Given the description of an element on the screen output the (x, y) to click on. 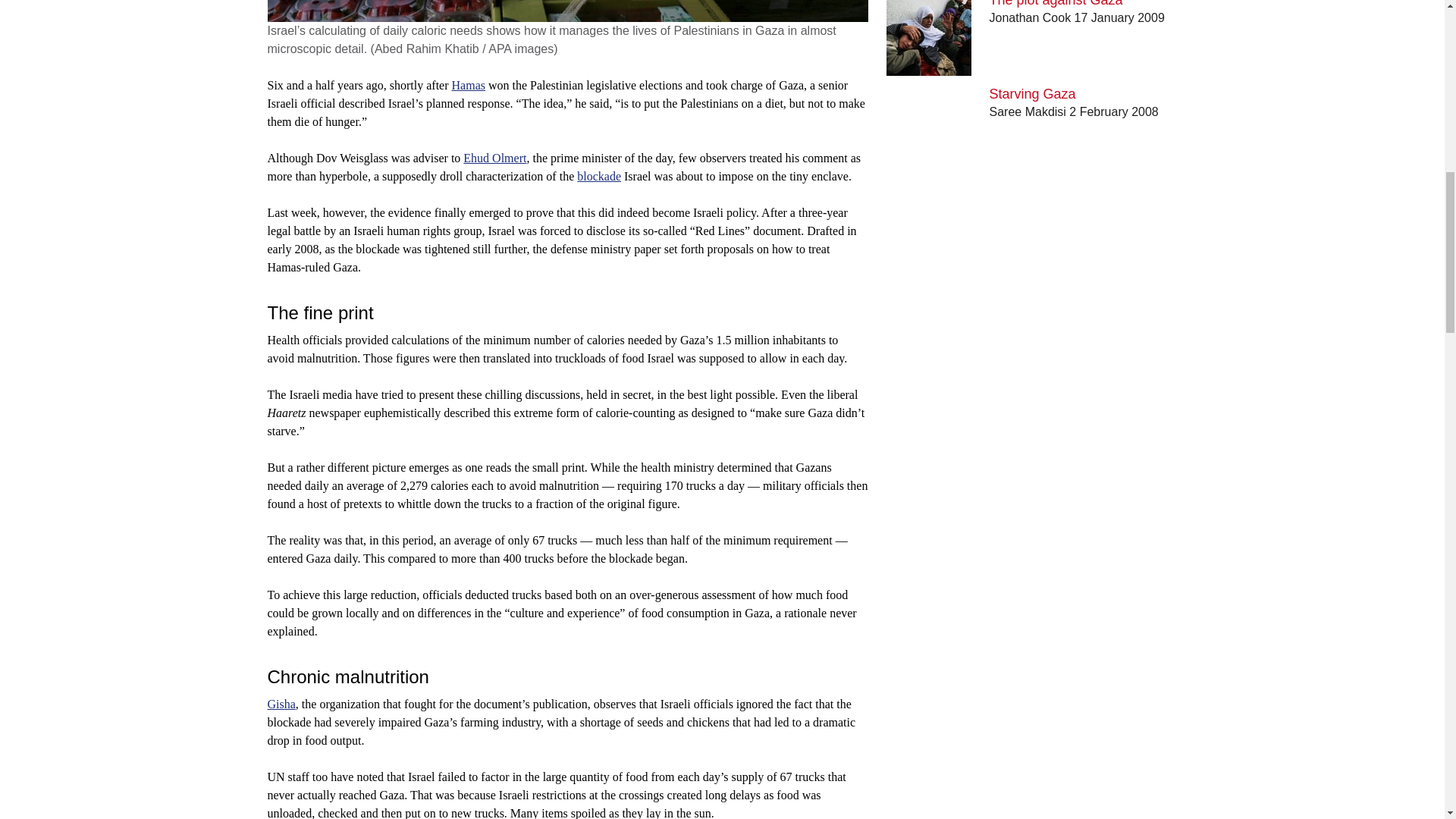
Hamas (467, 84)
Ehud Olmert (494, 157)
blockade (598, 175)
Gisha (280, 703)
